Given the description of an element on the screen output the (x, y) to click on. 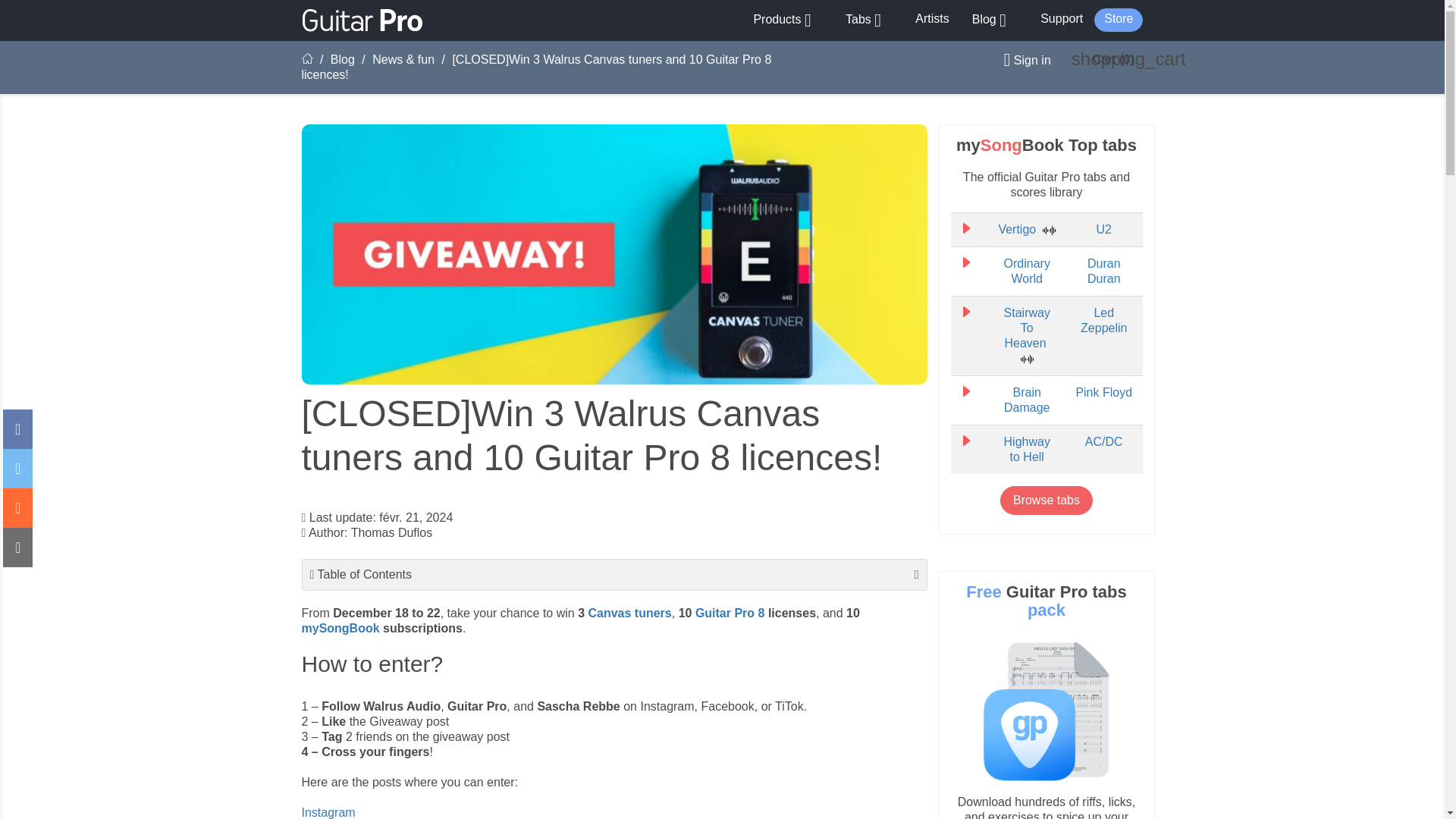
Log in to your customer account (1020, 60)
Artists (931, 18)
Audio track included (1026, 358)
Audio track included (1048, 230)
